Given the description of an element on the screen output the (x, y) to click on. 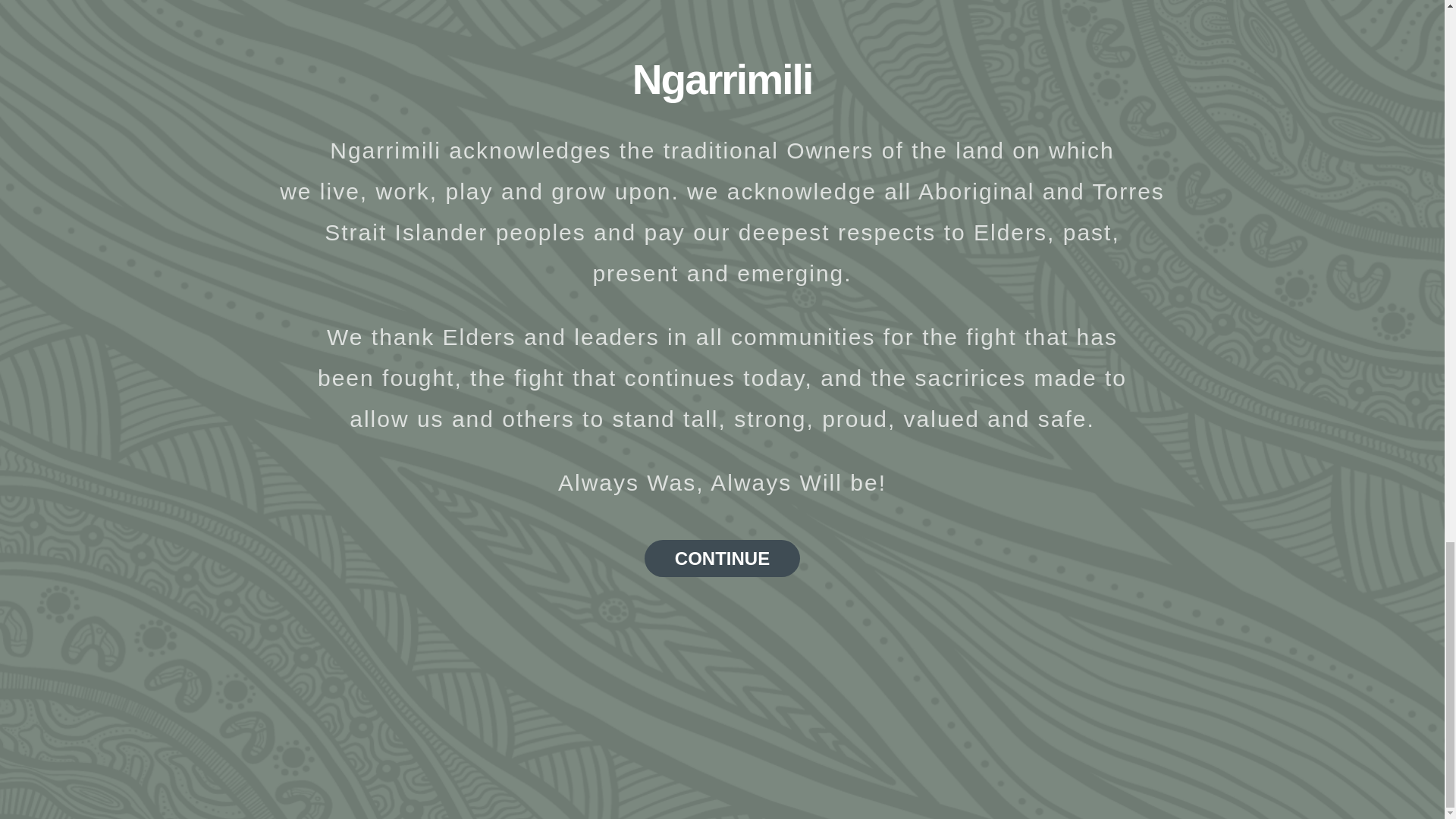
here. (243, 361)
OK (1023, 495)
OK (1023, 495)
